Given the description of an element on the screen output the (x, y) to click on. 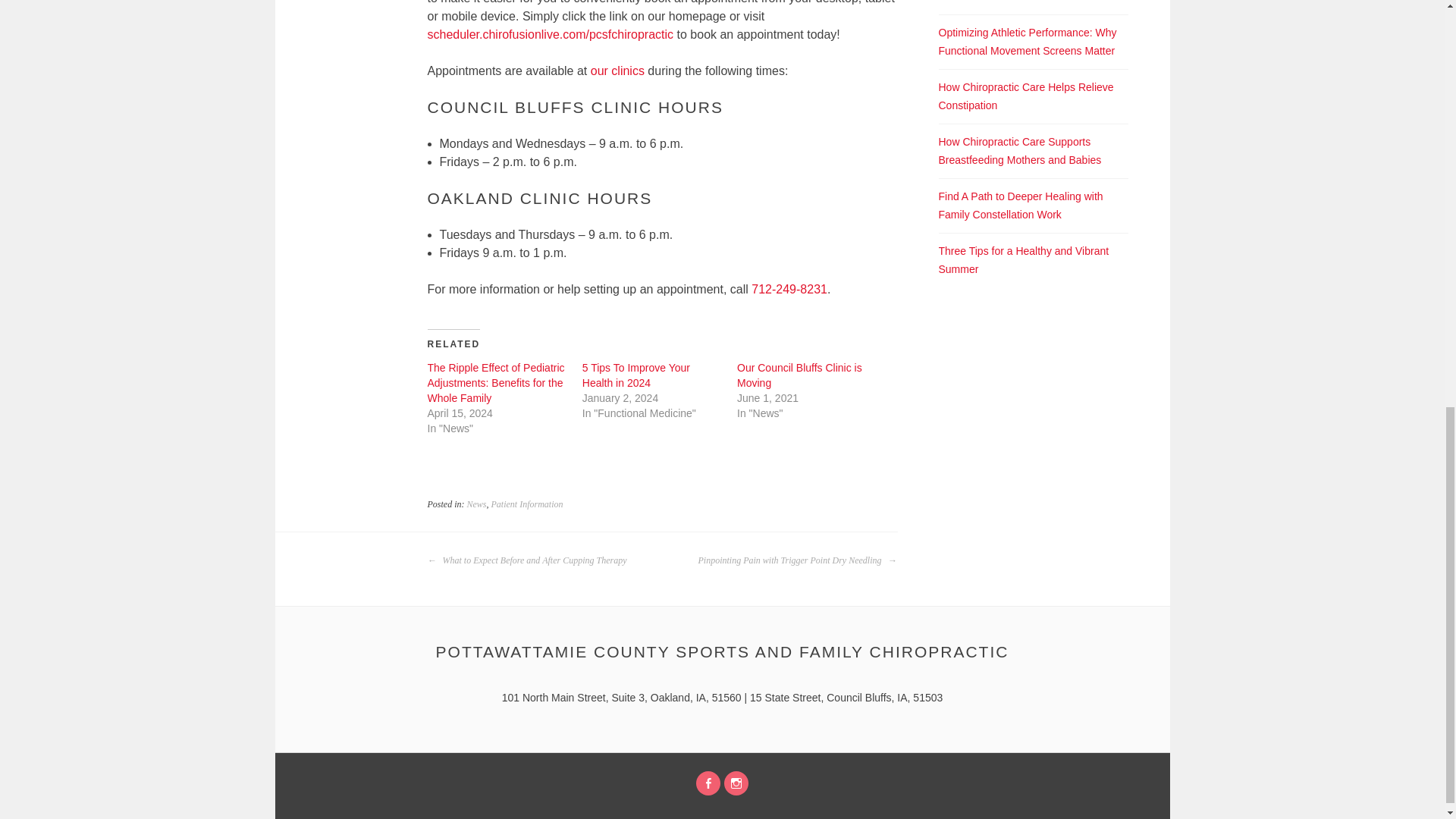
How Chiropractic Care Helps Relieve Constipation (1026, 96)
712-249-8231 (789, 288)
FACEBOOK (707, 783)
our clinics (618, 70)
 What to Expect Before and After Cupping Therapy (527, 560)
Pinpointing Pain with Trigger Point Dry Needling  (796, 560)
Patient Information (527, 503)
Our Council Bluffs Clinic is Moving (798, 375)
